Given the description of an element on the screen output the (x, y) to click on. 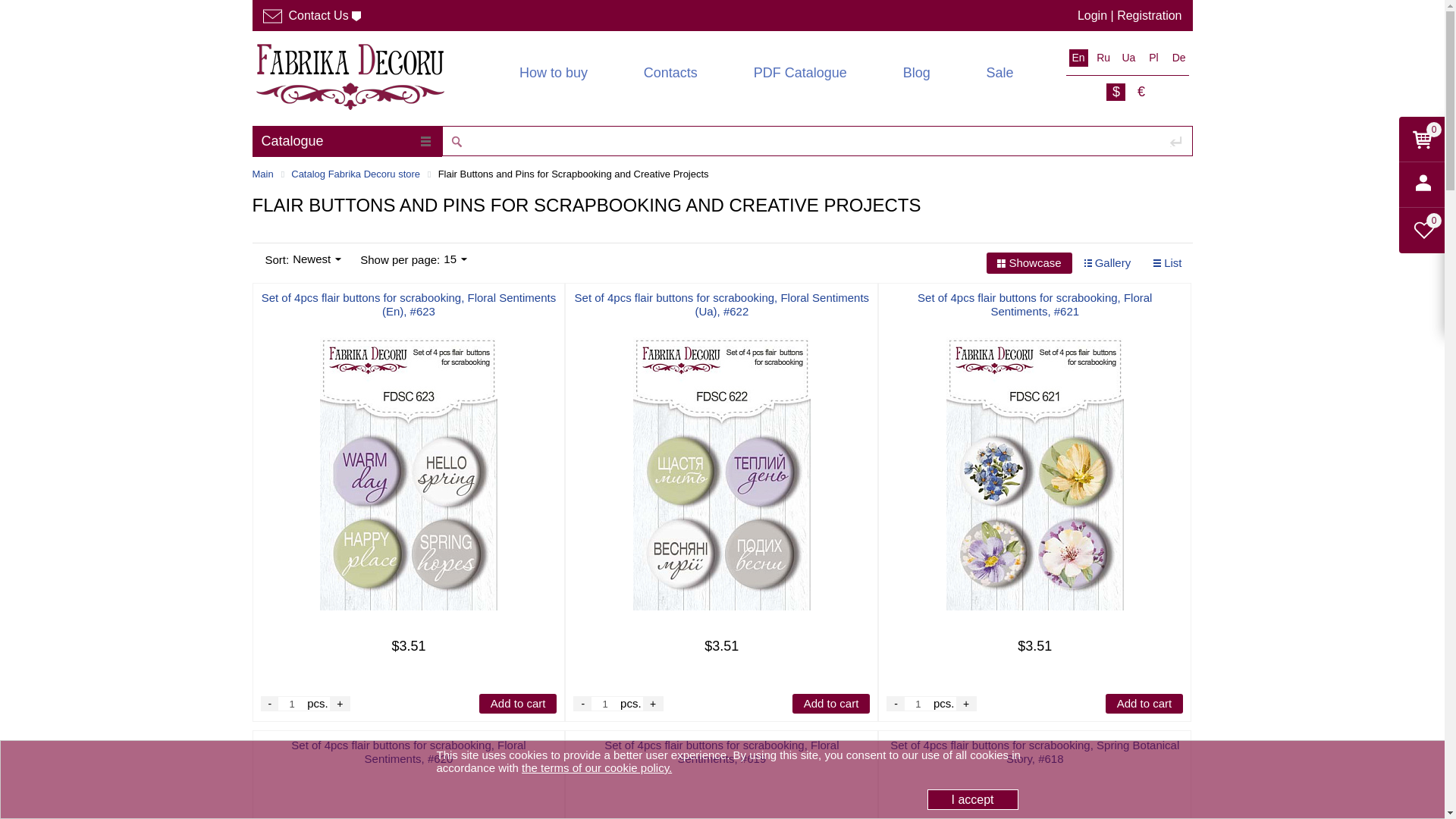
De (1178, 57)
Blog (916, 67)
Registration (1148, 15)
Ua (1128, 57)
Login (1091, 15)
1 (604, 704)
1 (917, 704)
Pl (1153, 57)
1 (291, 704)
Contacts (670, 67)
How to buy (553, 67)
Contact Us (310, 15)
Sale (999, 67)
Ru (1103, 57)
PDF Catalogue (800, 67)
